Given the description of an element on the screen output the (x, y) to click on. 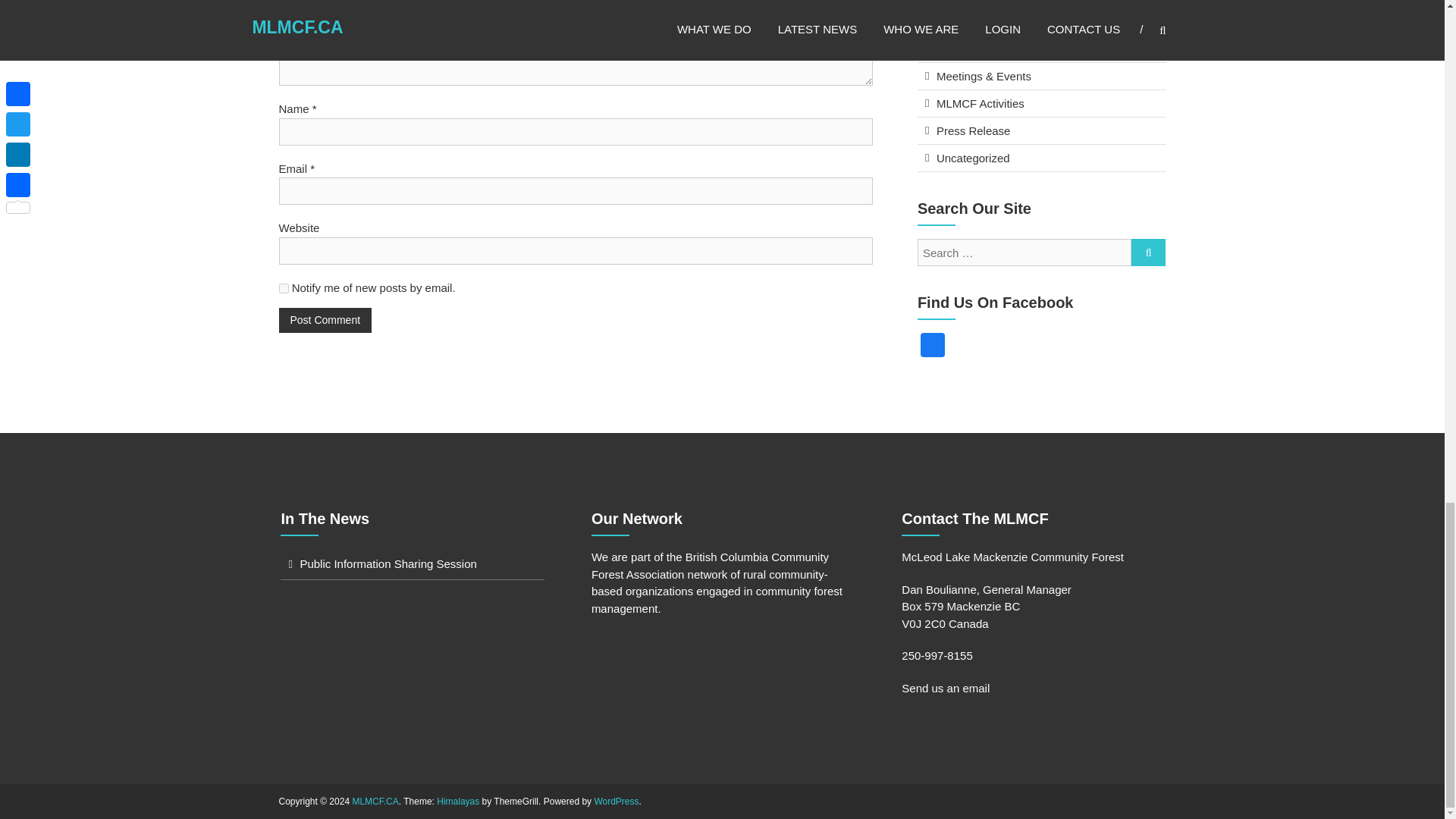
Post Comment (325, 319)
MLMCF.CA (374, 801)
WordPress (616, 801)
Himalayas (457, 801)
Facebook (932, 346)
Post Comment (325, 319)
subscribe (283, 288)
